Given the description of an element on the screen output the (x, y) to click on. 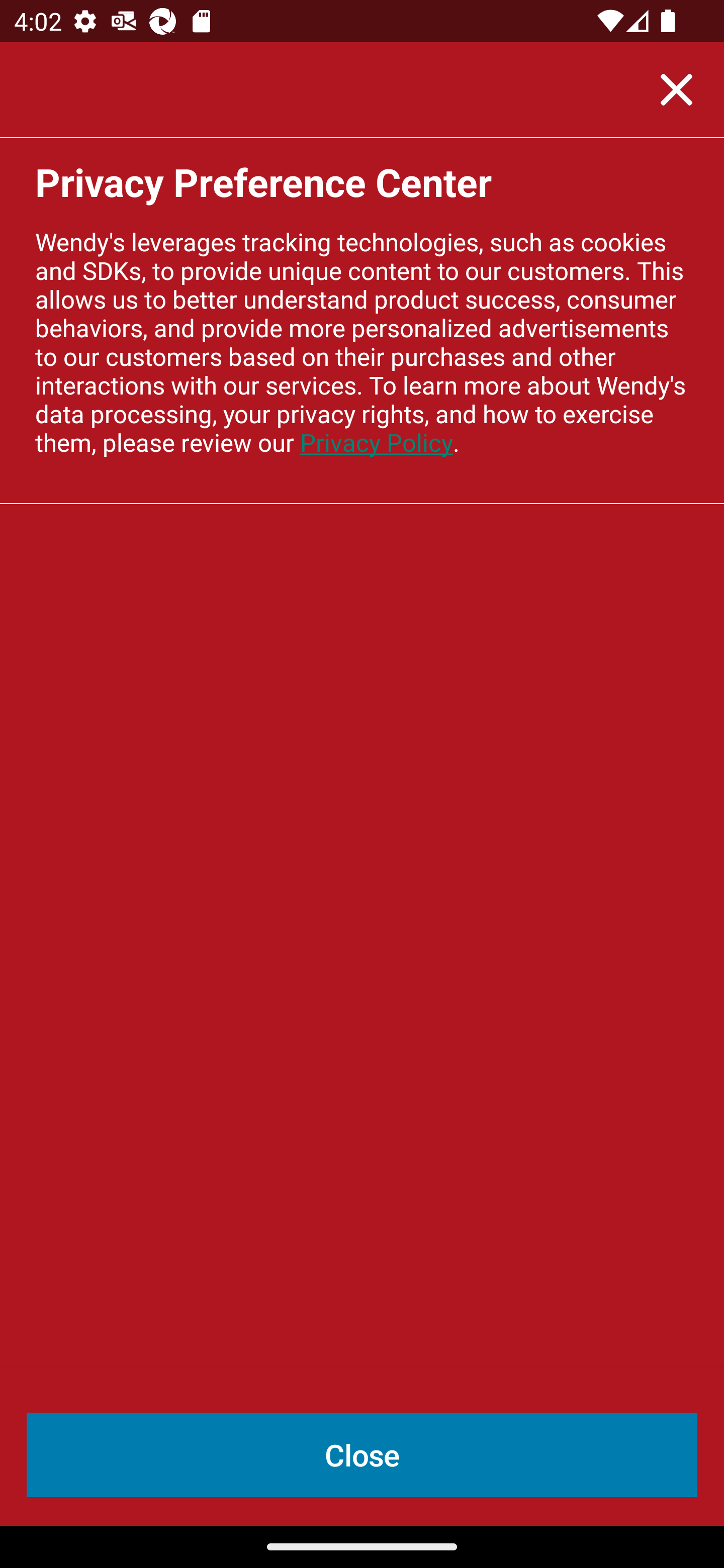
Close (676, 89)
Close (361, 1454)
